Given the description of an element on the screen output the (x, y) to click on. 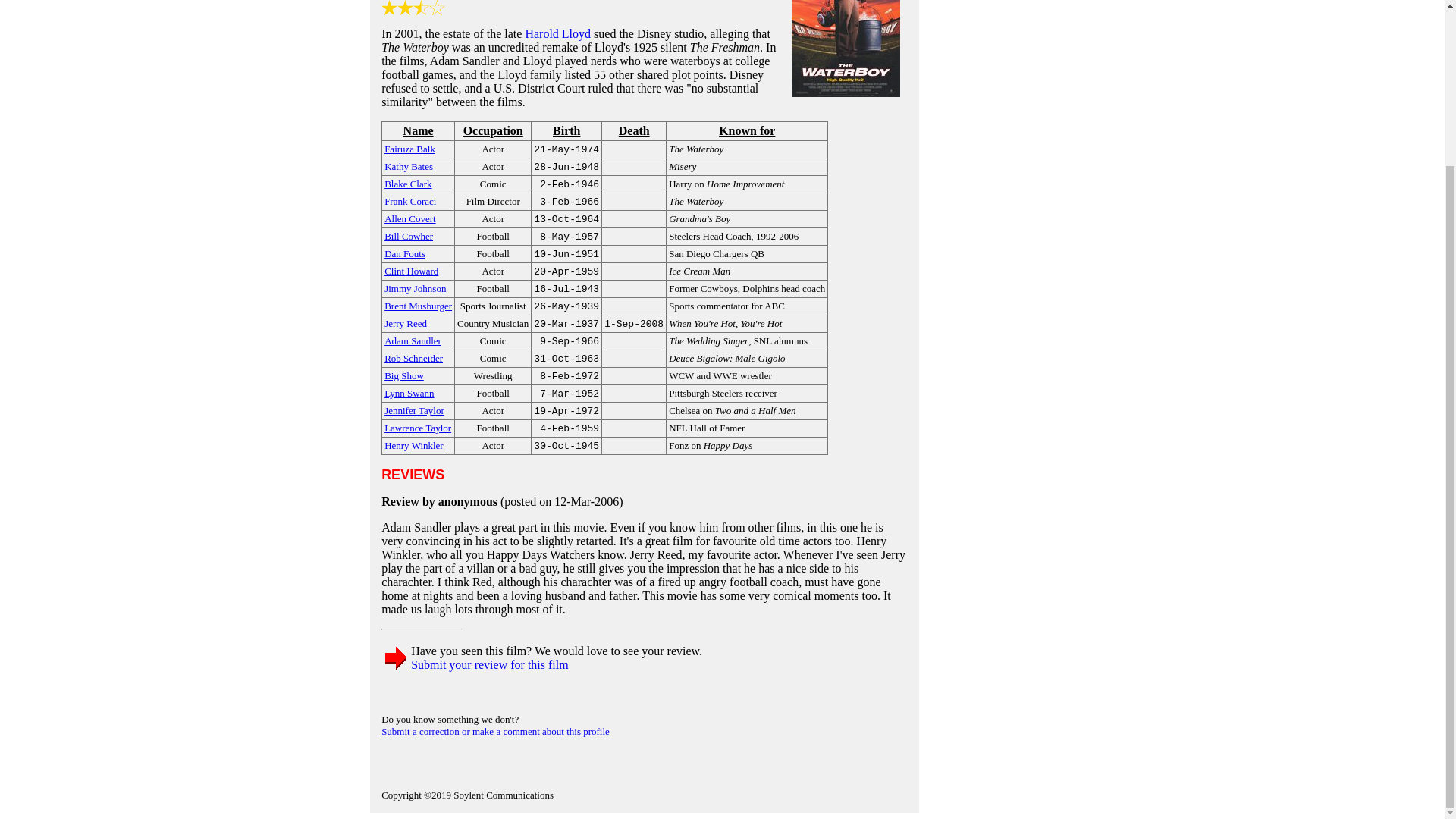
Kathy Bates (408, 164)
Big Show (403, 374)
Lynn Swann (408, 391)
Henry Winkler (414, 444)
Rob Schneider (413, 357)
Death (633, 131)
Submit your review for this film (489, 664)
Bill Cowher (408, 235)
Occupation (492, 131)
Harold Lloyd (557, 33)
